Given the description of an element on the screen output the (x, y) to click on. 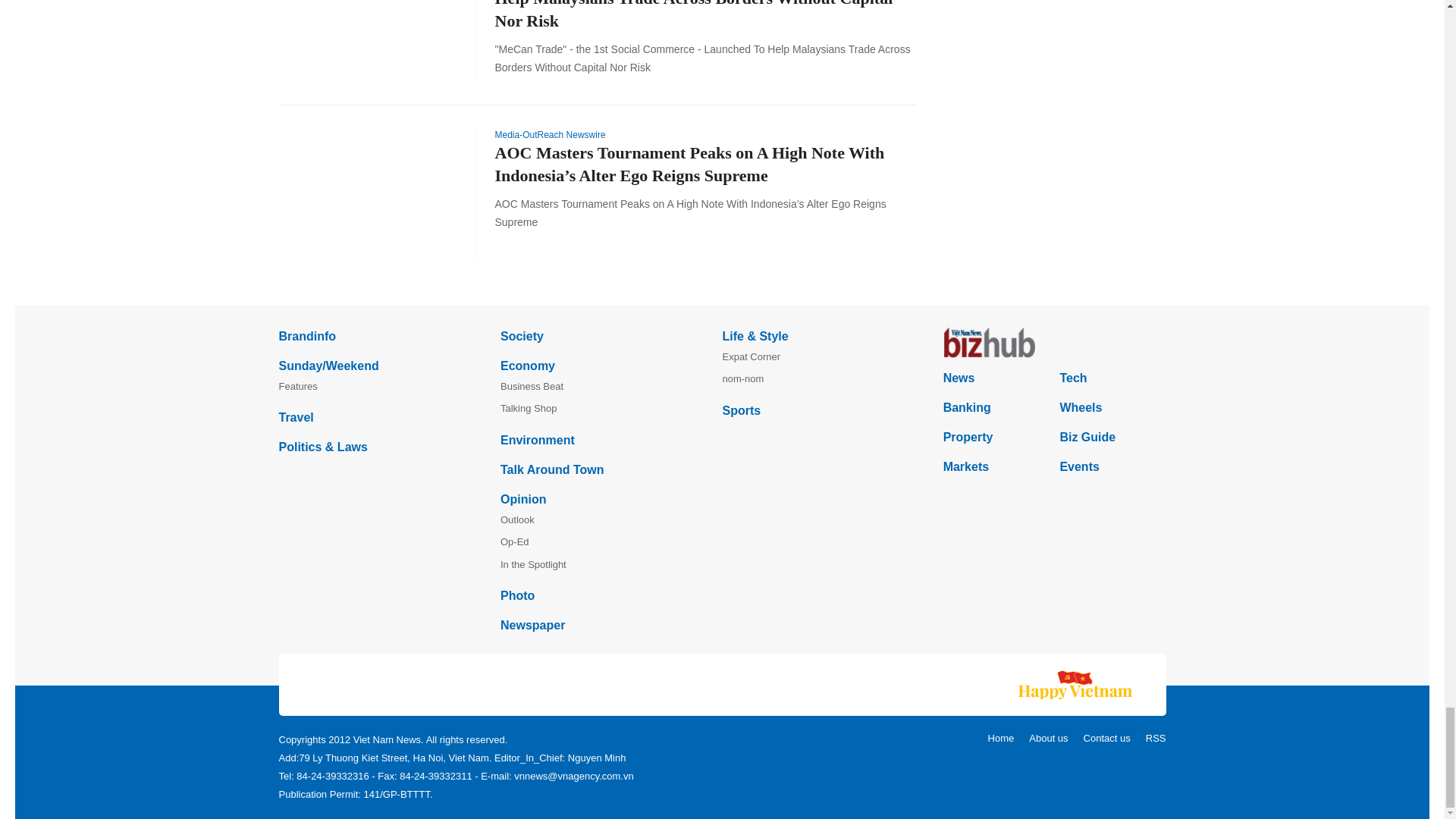
bizhub (1054, 342)
